Given the description of an element on the screen output the (x, y) to click on. 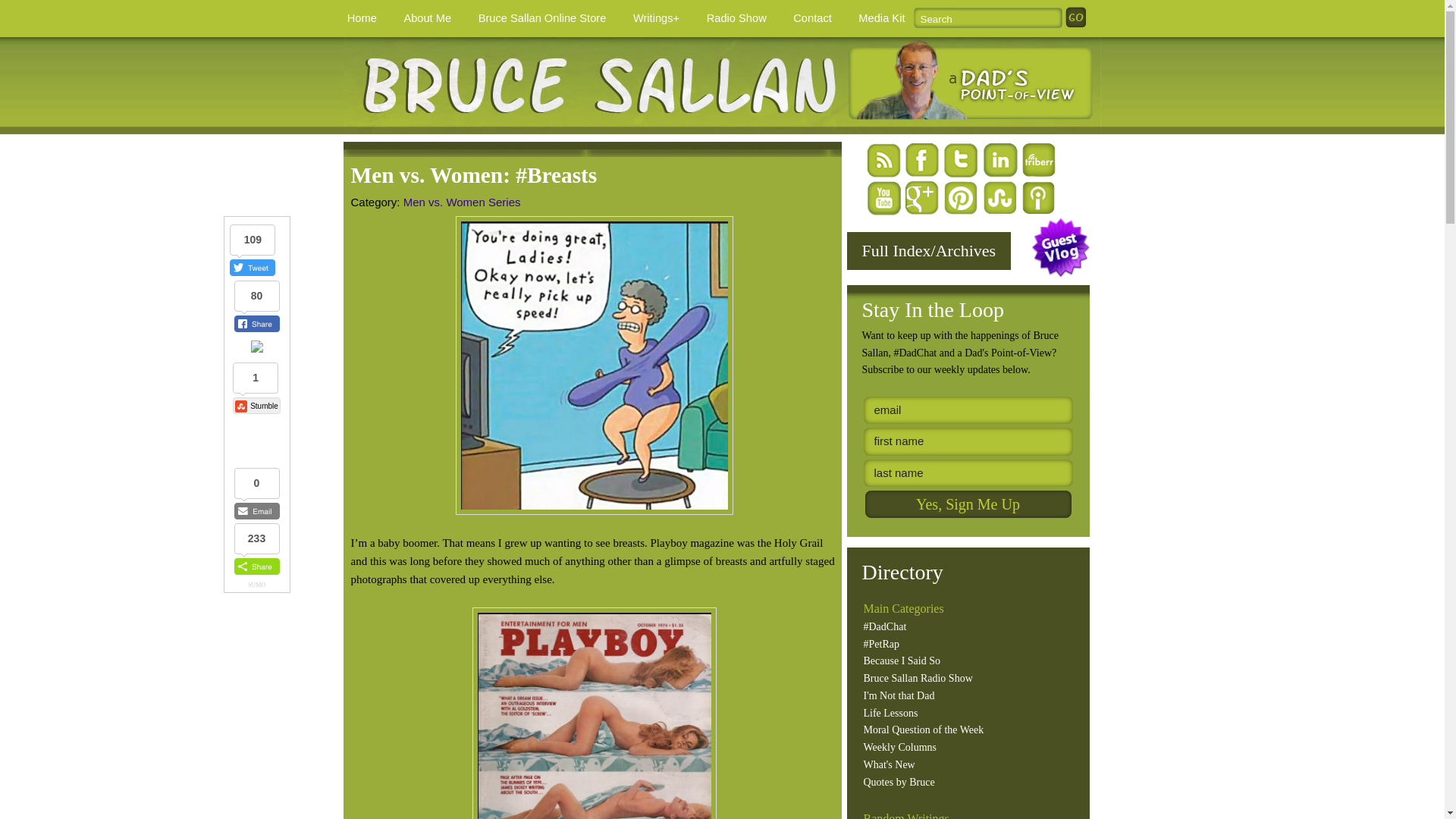
Yes, Sign Me Up (967, 504)
Radio Show (736, 18)
Bruce Sallan Online Store (542, 18)
Media Kit (881, 18)
Contact (811, 18)
About Me (427, 18)
Men vs. Women Series (462, 201)
Pin It! (256, 348)
Home (361, 18)
SUMO (255, 584)
Search (989, 16)
Search (1075, 16)
